Given the description of an element on the screen output the (x, y) to click on. 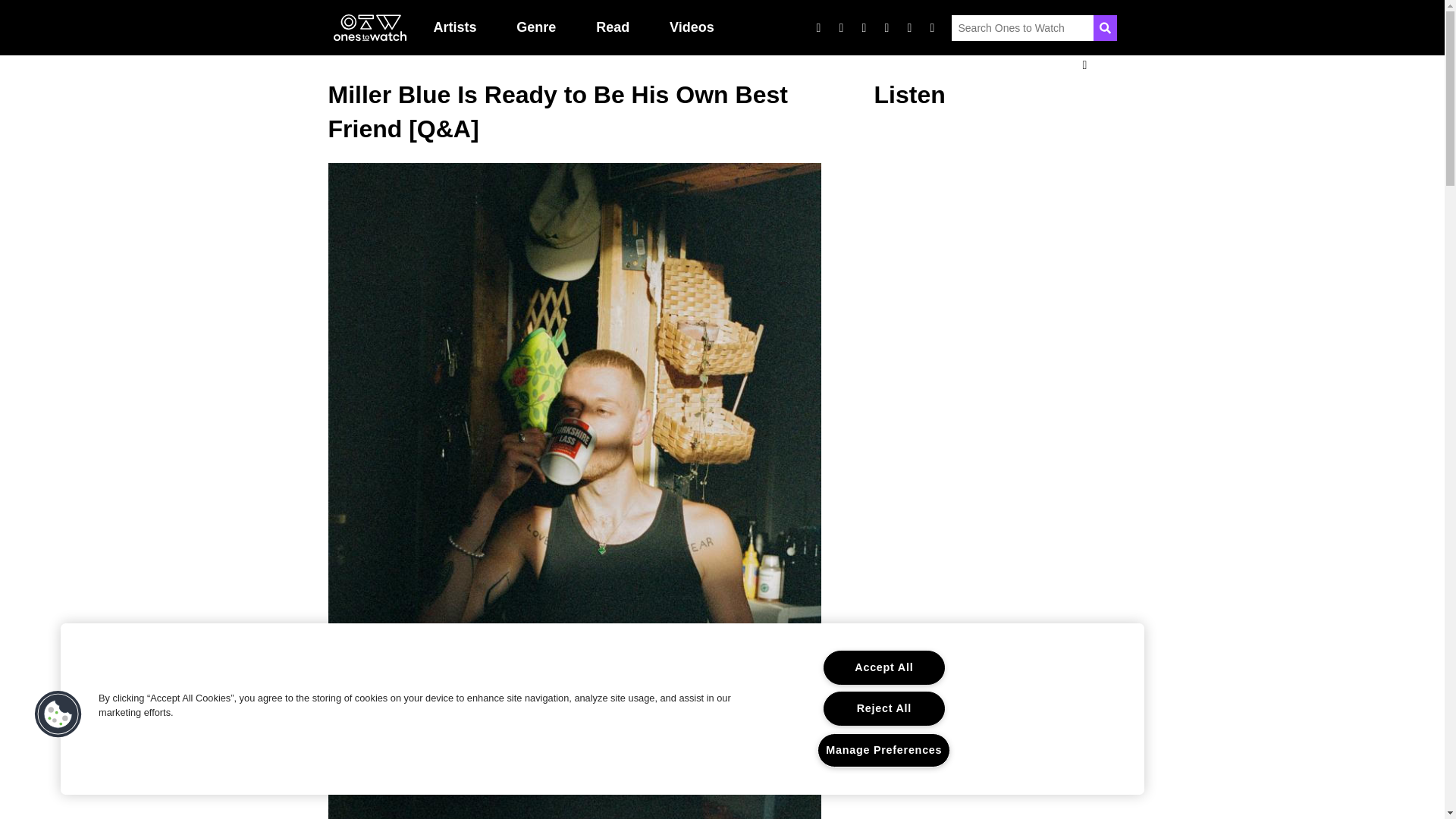
Ones2Watch Home (369, 27)
Videos (692, 27)
Artists (455, 27)
